Given the description of an element on the screen output the (x, y) to click on. 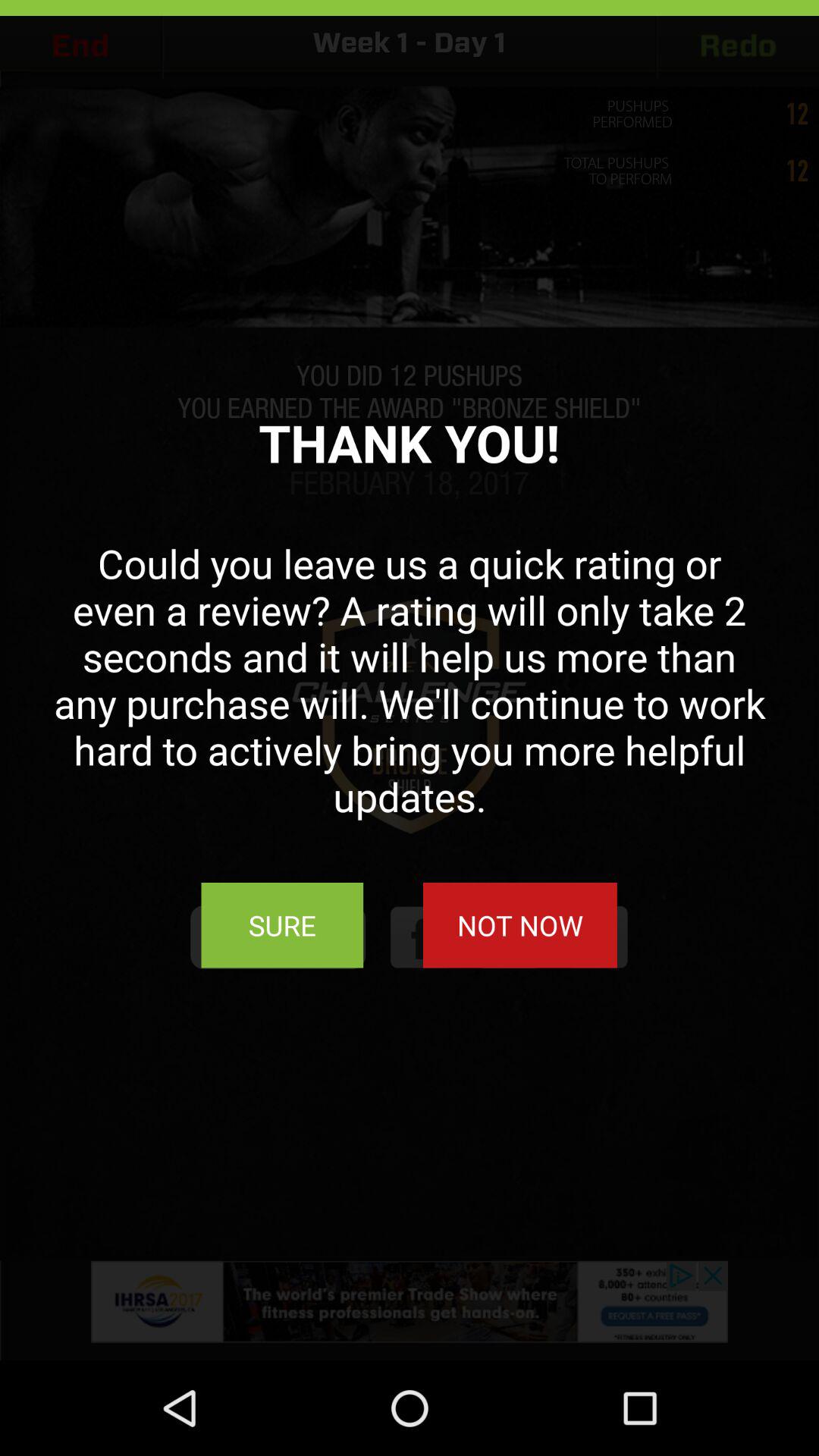
flip until the not now button (520, 925)
